Given the description of an element on the screen output the (x, y) to click on. 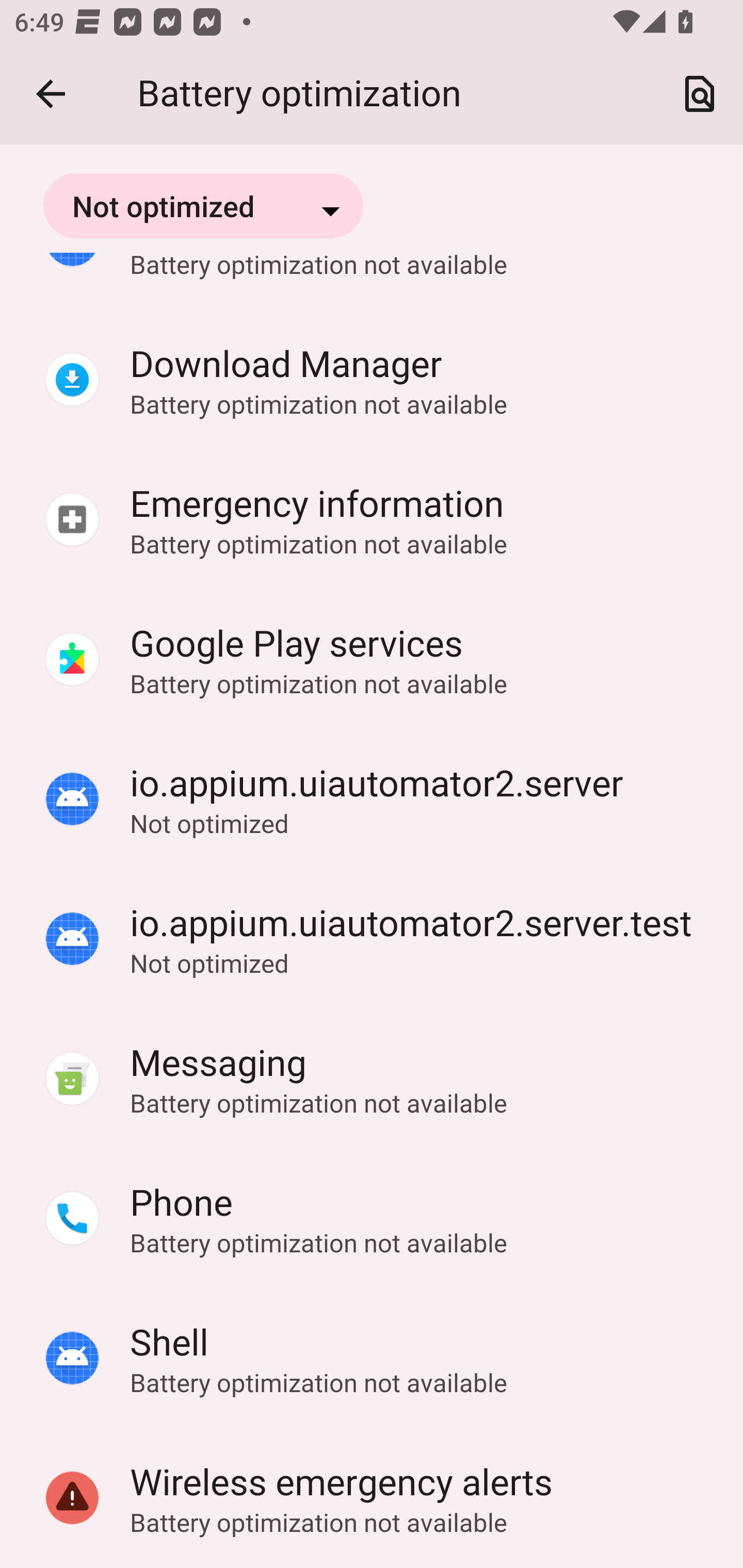
Navigate up (50, 93)
Search (699, 93)
Not optimized (203, 205)
Phone Phone Battery optimization not available (371, 1218)
Shell Shell Battery optimization not available (371, 1358)
